Given the description of an element on the screen output the (x, y) to click on. 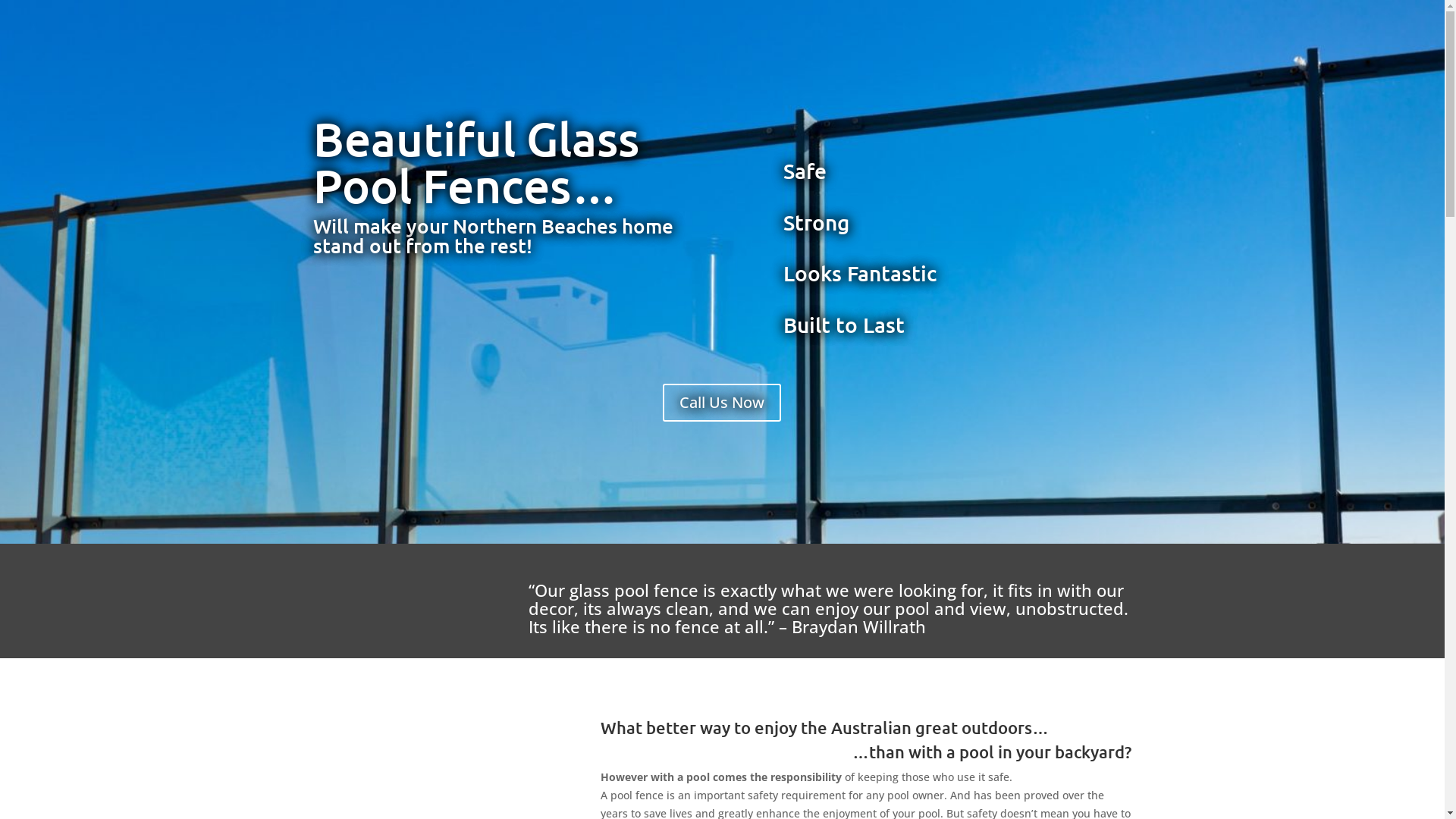
Call Us Now Element type: text (721, 402)
